Given the description of an element on the screen output the (x, y) to click on. 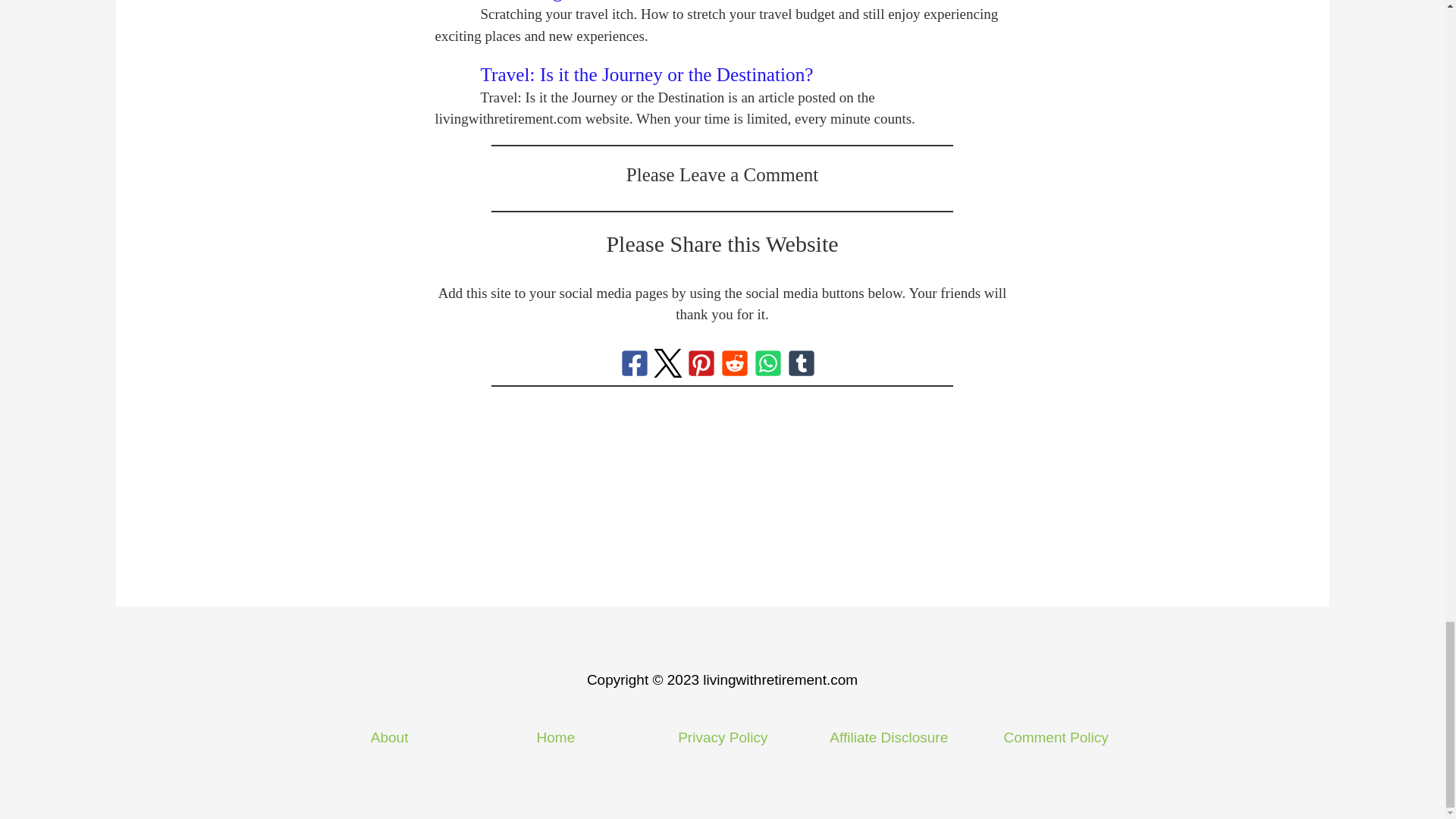
Advertisement (722, 499)
Travel: Is it the Journey or the Destination? (646, 74)
Privacy Policy (722, 737)
About (390, 737)
Comment Policy (1055, 737)
Home (556, 737)
